Given the description of an element on the screen output the (x, y) to click on. 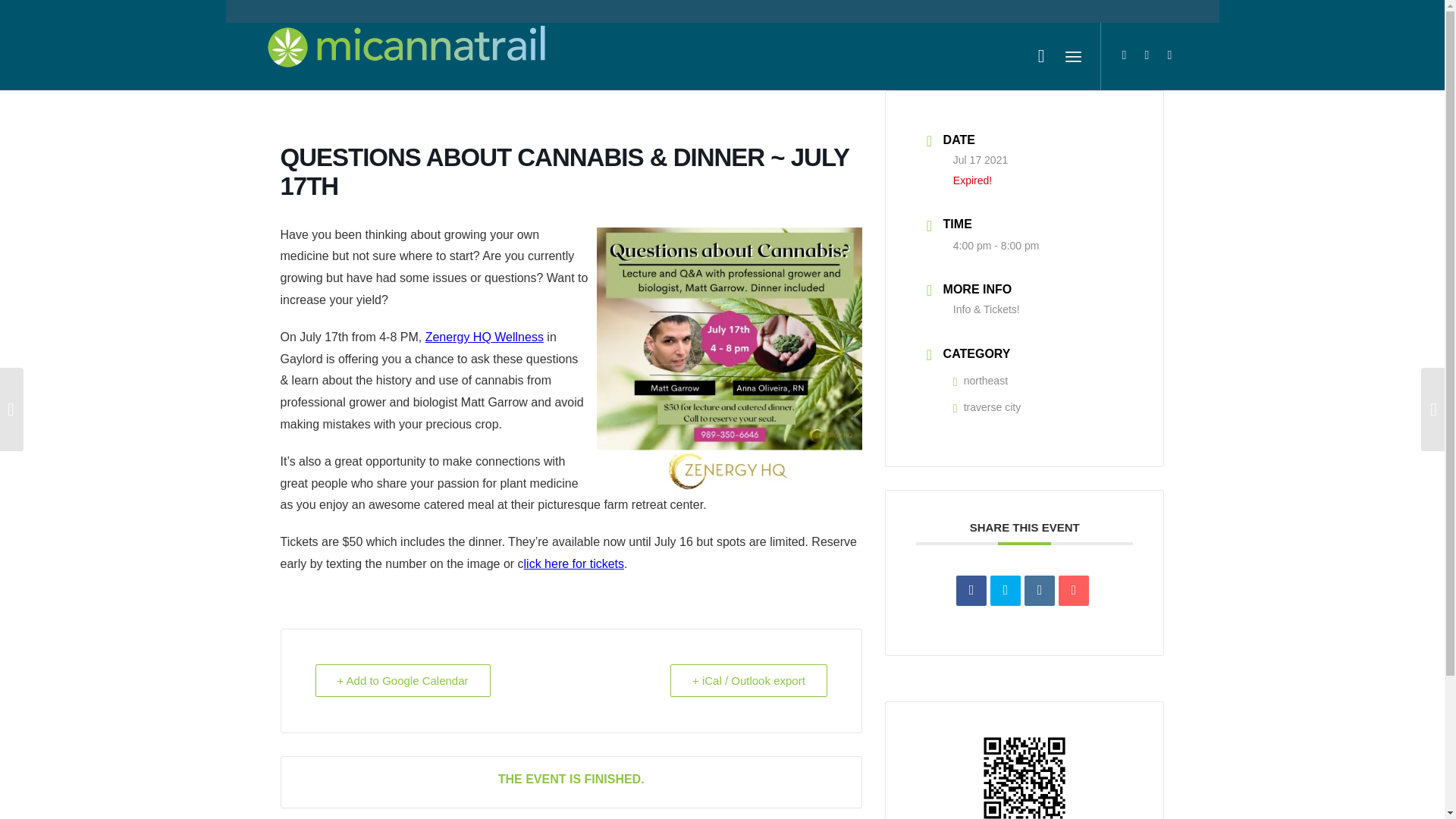
Share on Facebook (971, 590)
northeast (980, 380)
Facebook (1146, 55)
X (1124, 55)
Instagram (1169, 55)
micannatrail (405, 49)
lick here for tickets (574, 563)
Linkedin (1039, 590)
Zenergy HQ Wellness (484, 336)
micannatrail (405, 56)
